Given the description of an element on the screen output the (x, y) to click on. 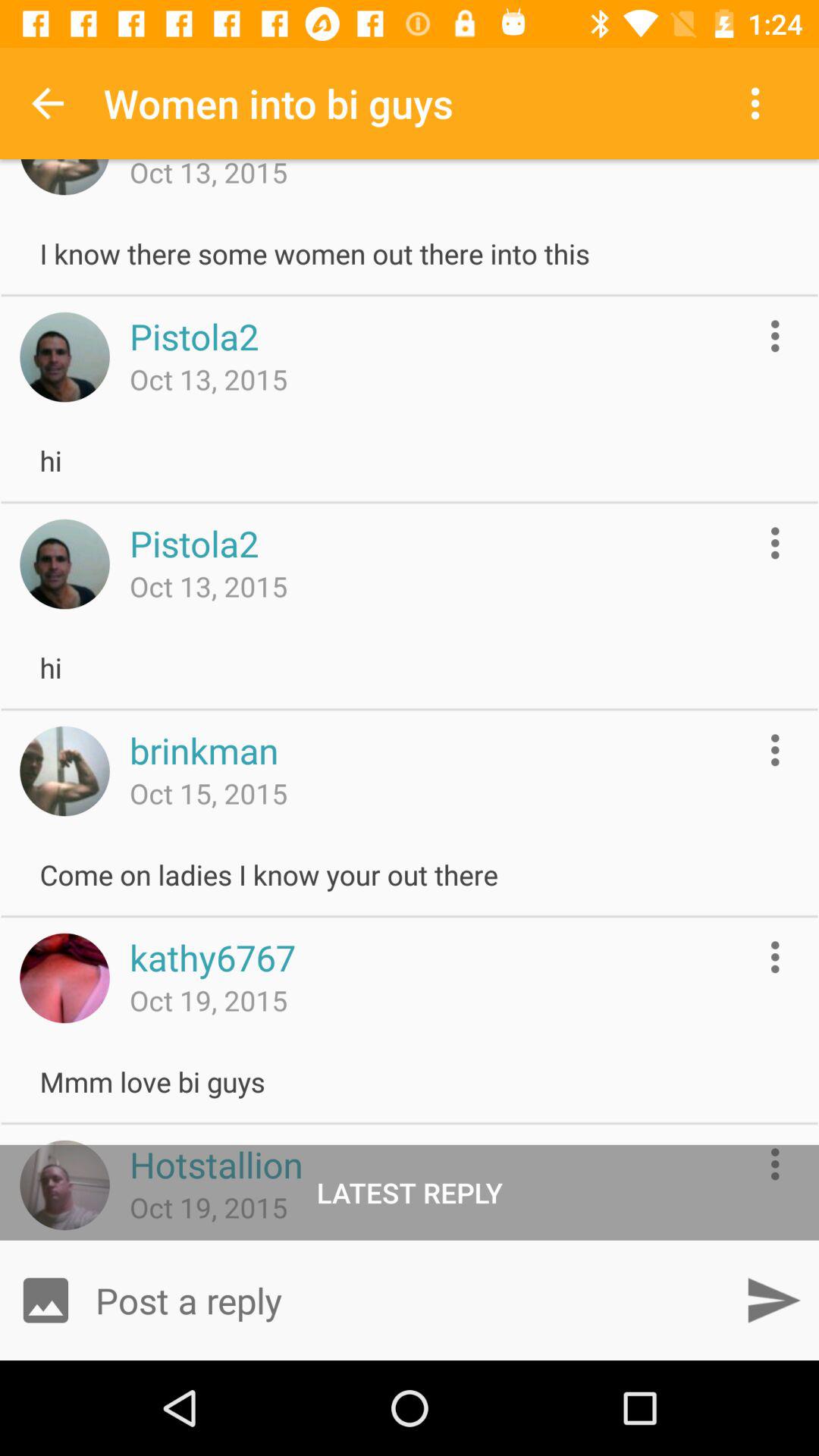
tap the hotstallion item (216, 1164)
